Given the description of an element on the screen output the (x, y) to click on. 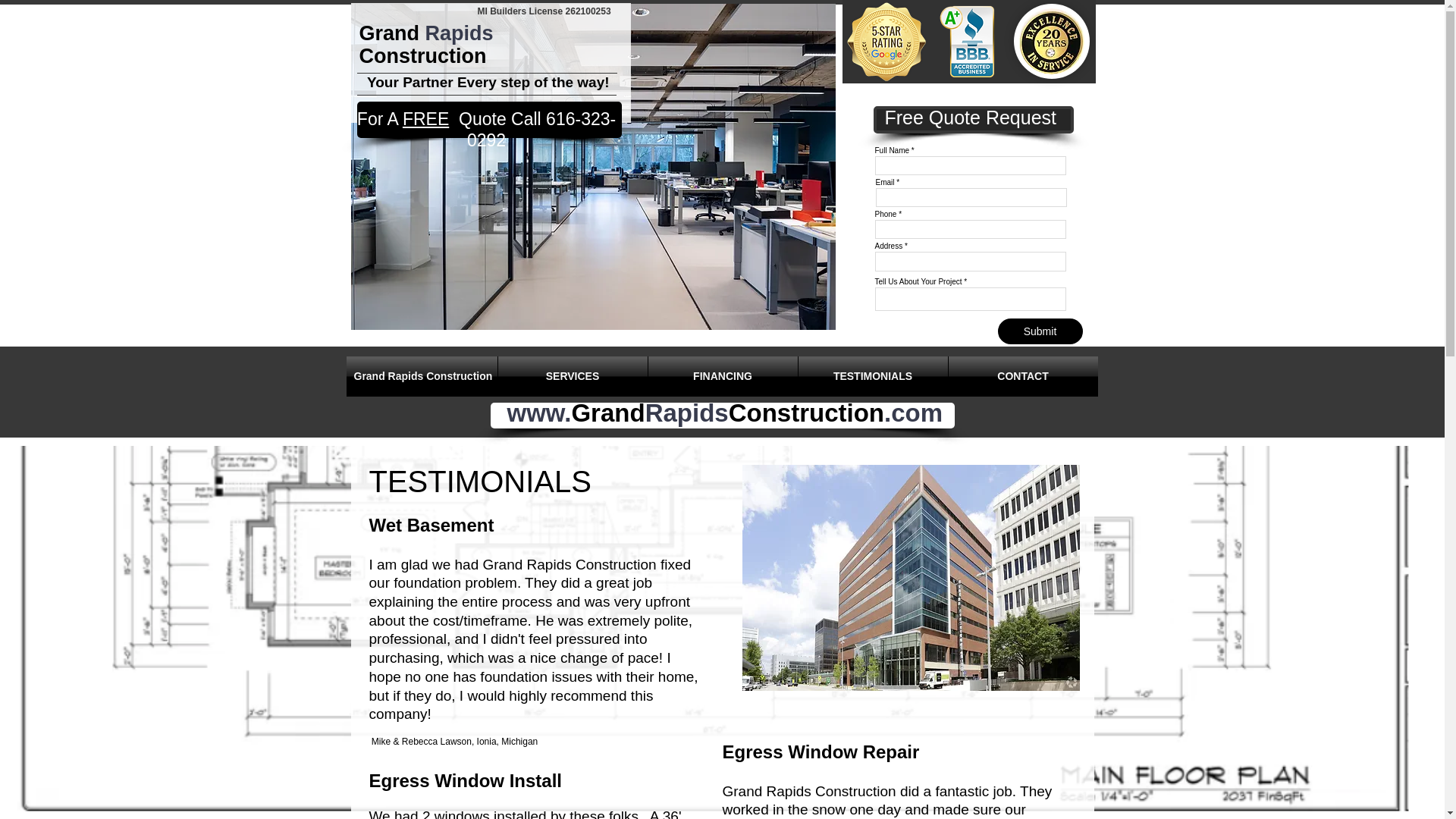
Submit (1040, 330)
   Your Partner Every step of the way! (481, 82)
TESTIMONIALS (872, 376)
SERVICES (571, 376)
www.GrandRapidsConstruction.com (724, 412)
MI Builders License 262100253 (544, 10)
Grand Rapids Construction (421, 376)
FINANCING (721, 376)
Grand Rapids Construction (426, 44)
CONTACT (1022, 376)
